Given the description of an element on the screen output the (x, y) to click on. 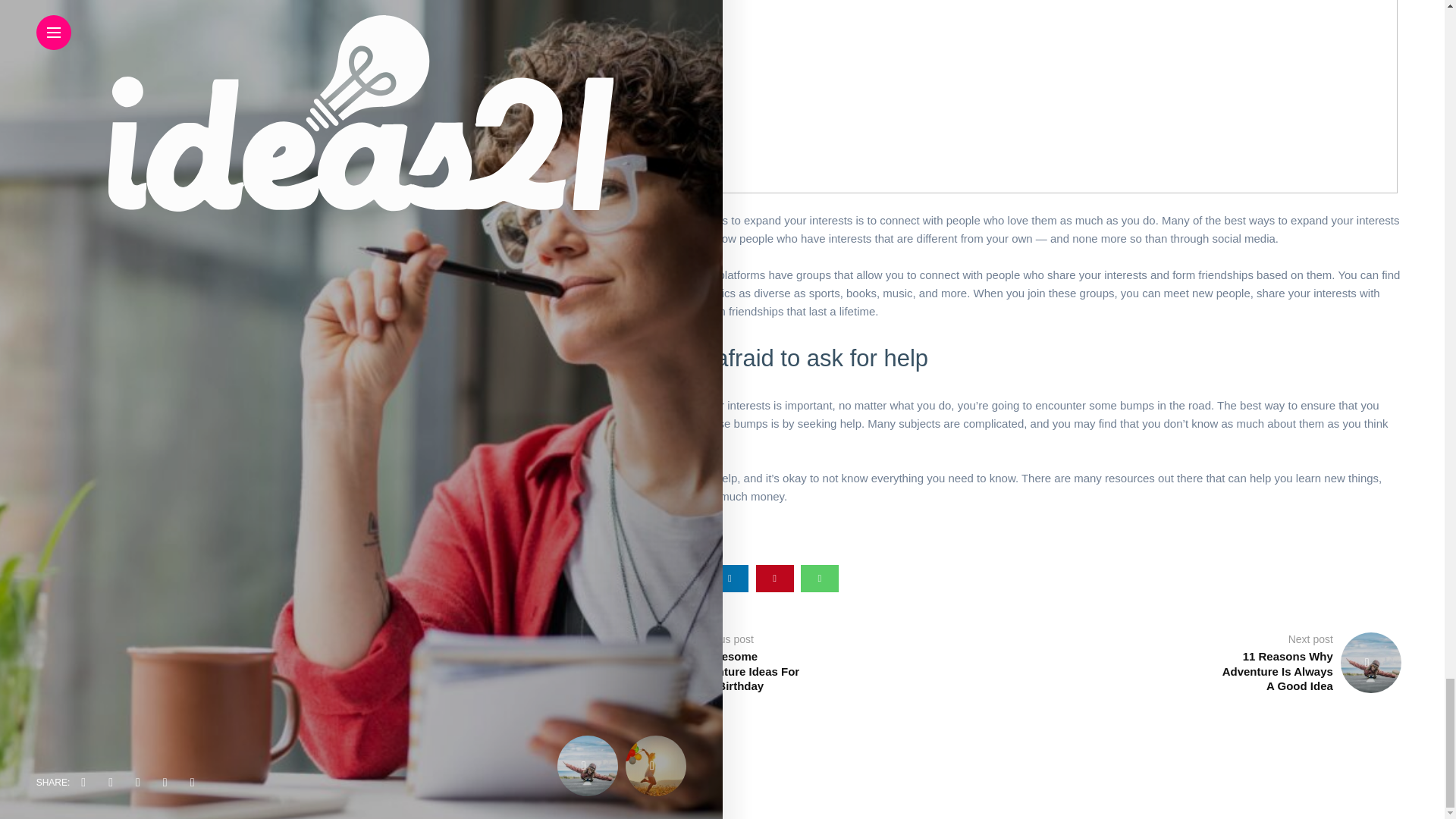
facebook (640, 578)
